Given the description of an element on the screen output the (x, y) to click on. 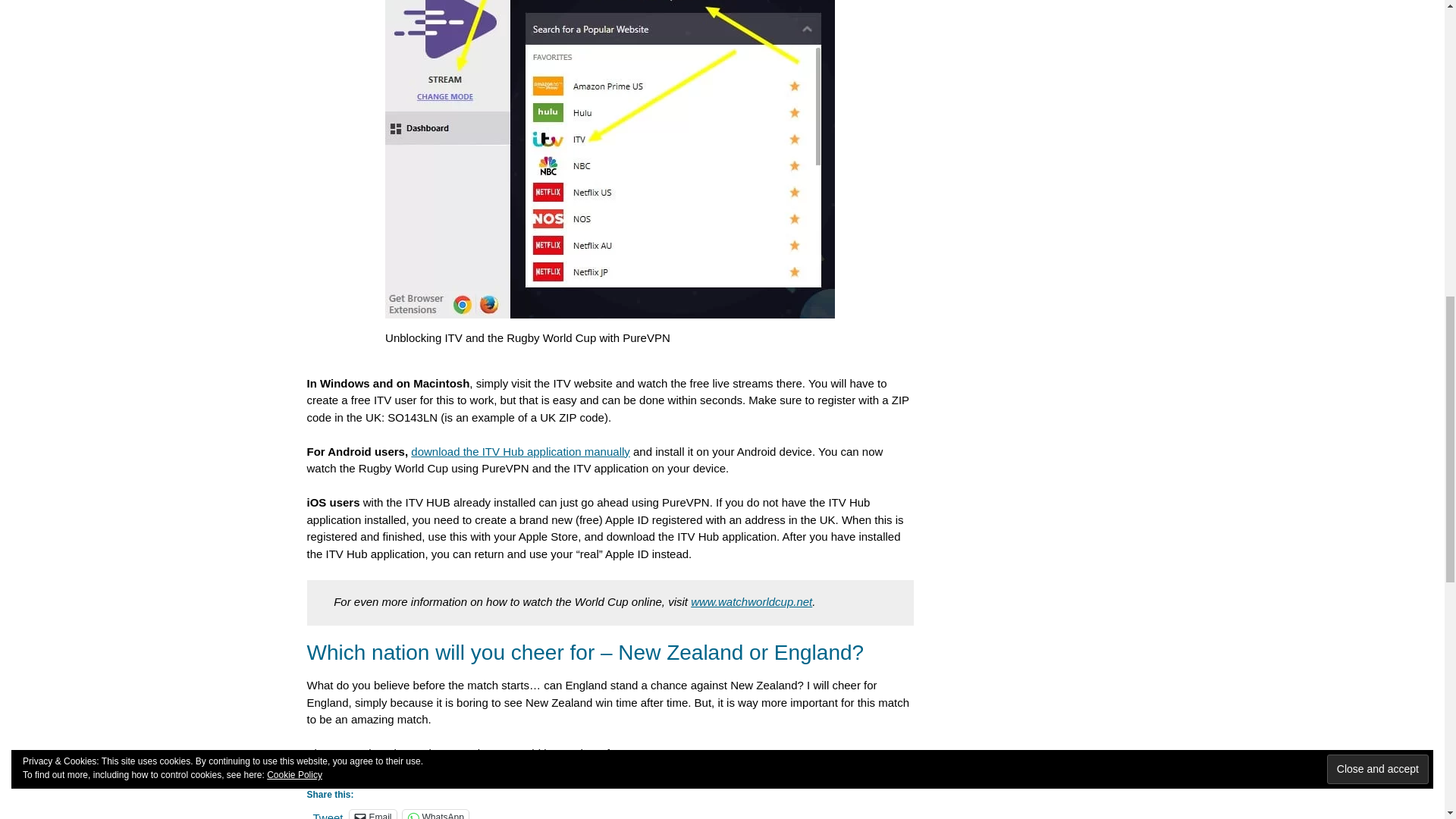
WhatsApp (435, 814)
www.watchworldcup.net (751, 601)
download the ITV Hub application manually (520, 451)
Email (372, 814)
Click to email a link to a friend (372, 814)
Click to share on WhatsApp (435, 814)
Tweet (327, 814)
